Given the description of an element on the screen output the (x, y) to click on. 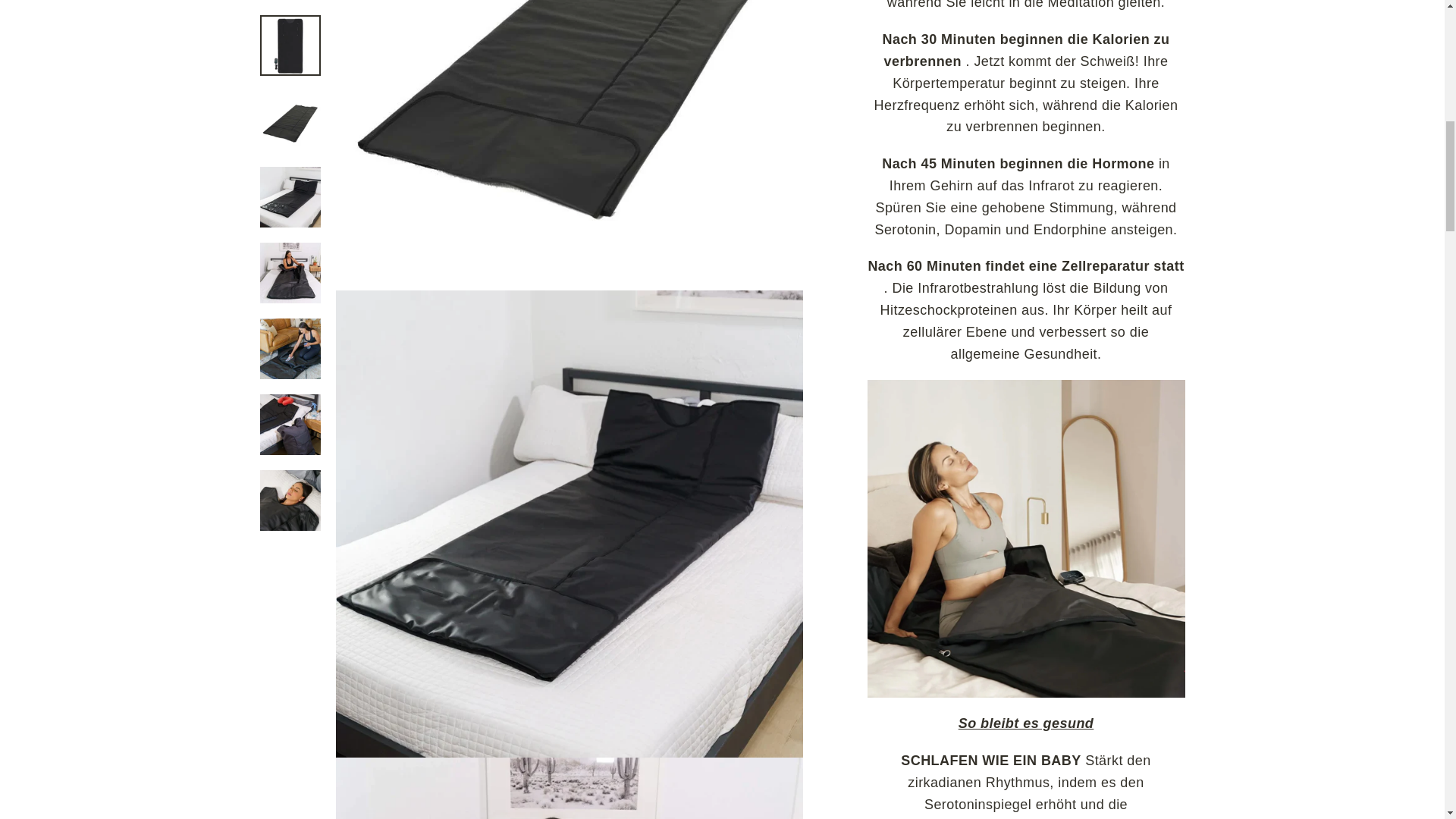
ICON-HAMBURGER SEITENNAVIGATION (162, 46)
ICON-HAMBURGER (65, 47)
